Given the description of an element on the screen output the (x, y) to click on. 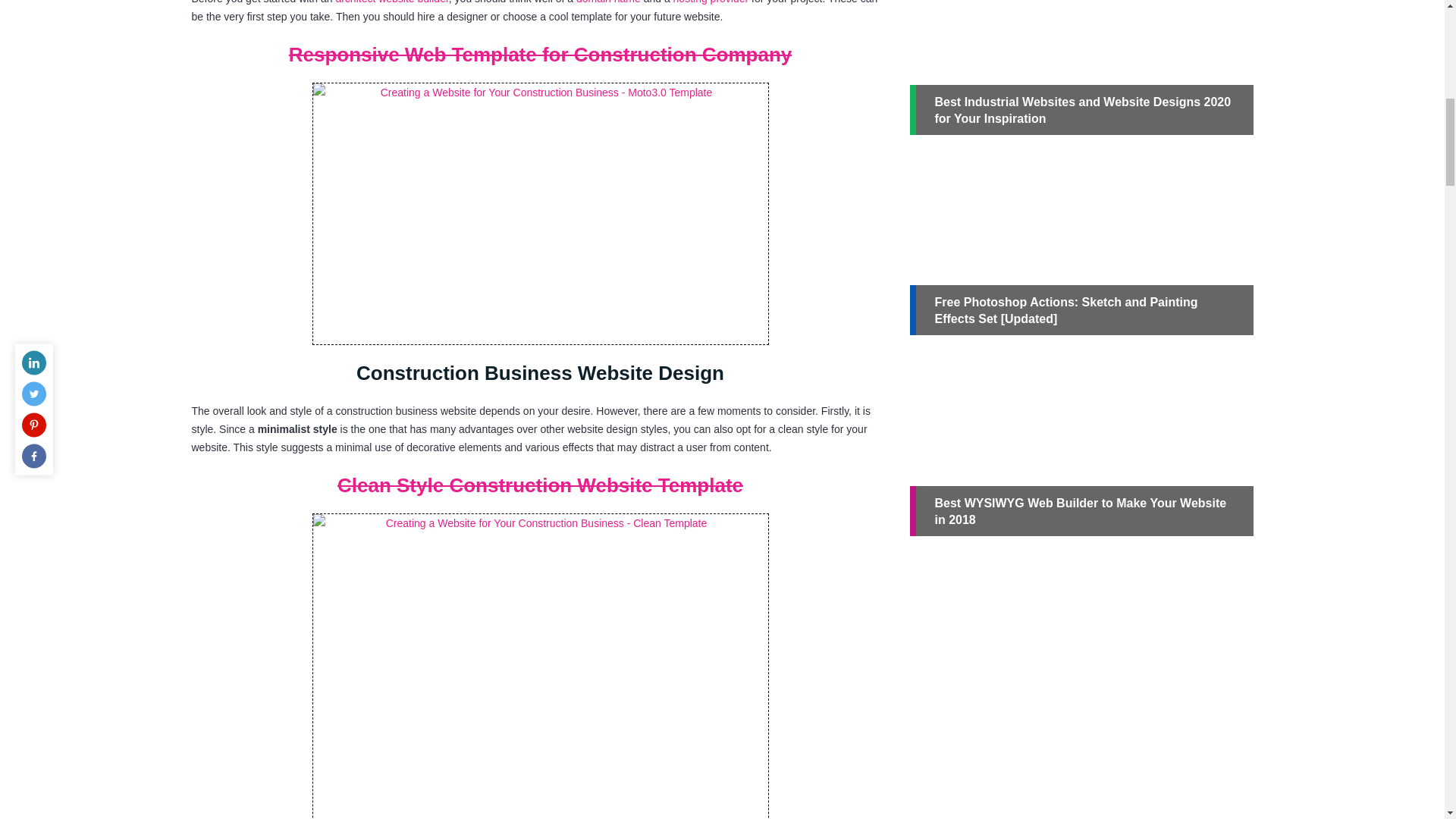
architect website builder (391, 2)
domain name (608, 2)
